Given the description of an element on the screen output the (x, y) to click on. 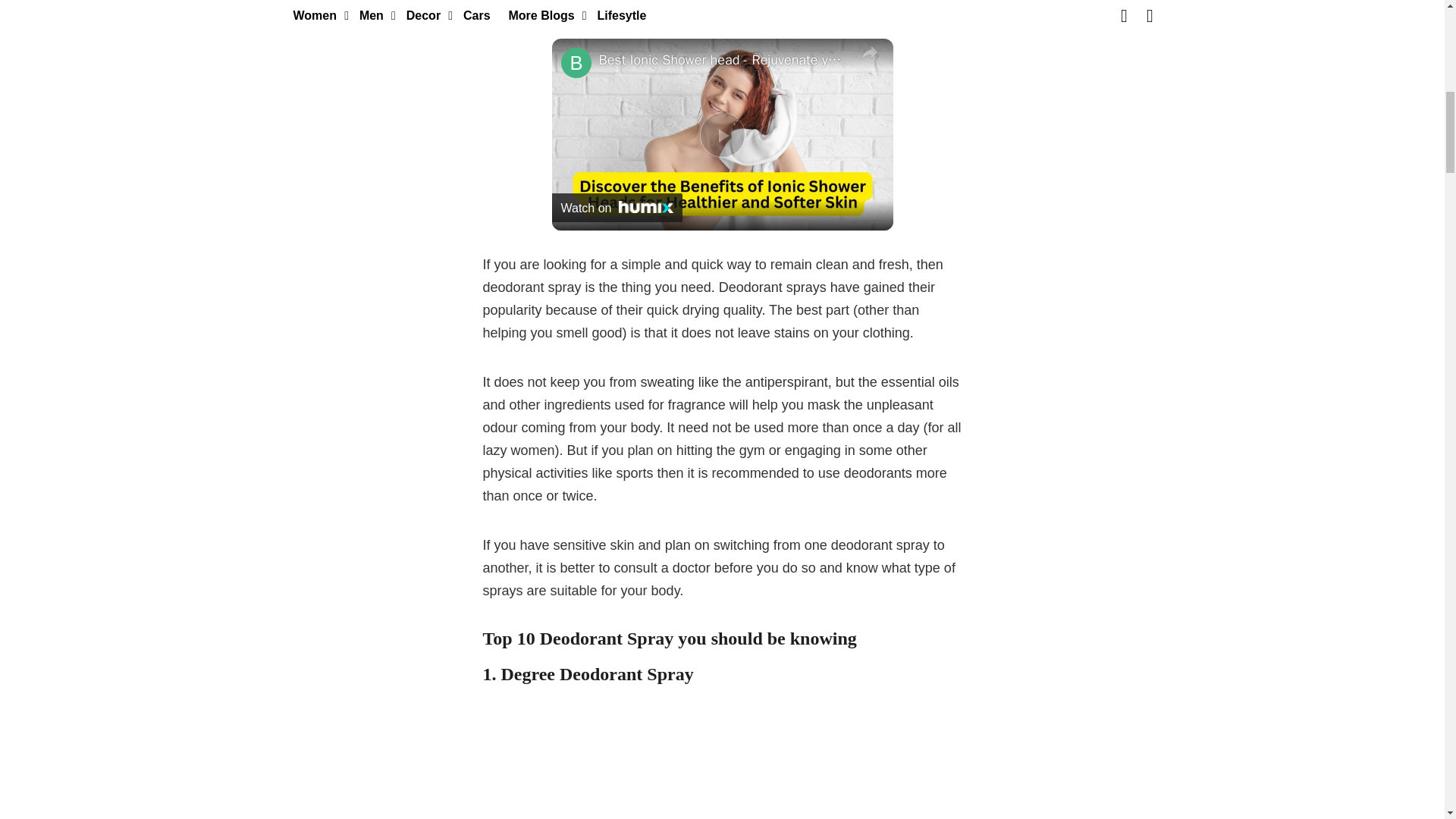
Play Video (721, 135)
Play Video (721, 135)
